Given the description of an element on the screen output the (x, y) to click on. 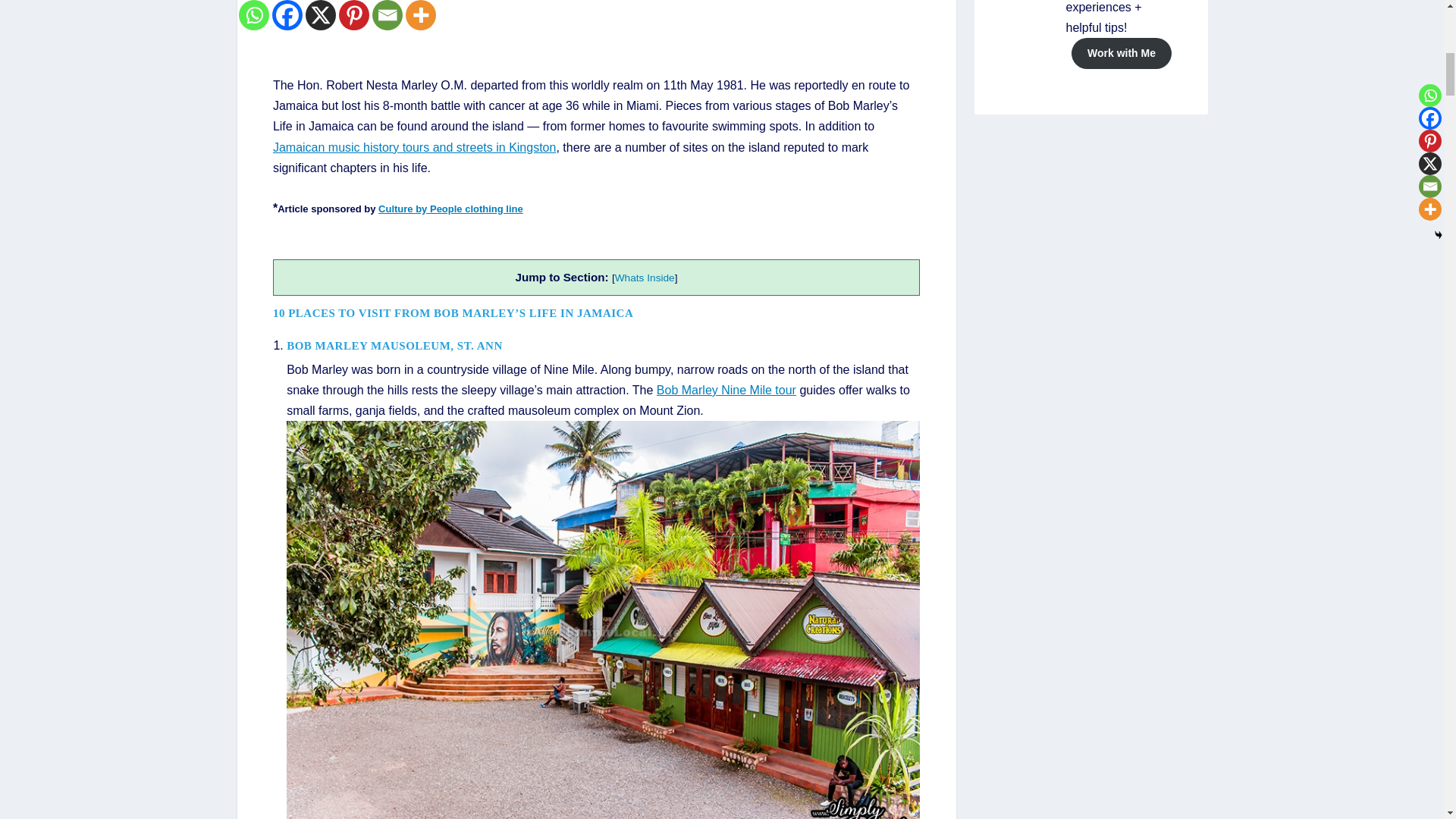
X (319, 15)
Email (386, 15)
More (419, 15)
Facebook (285, 15)
Pinterest (352, 15)
Whatsapp (252, 15)
